Given the description of an element on the screen output the (x, y) to click on. 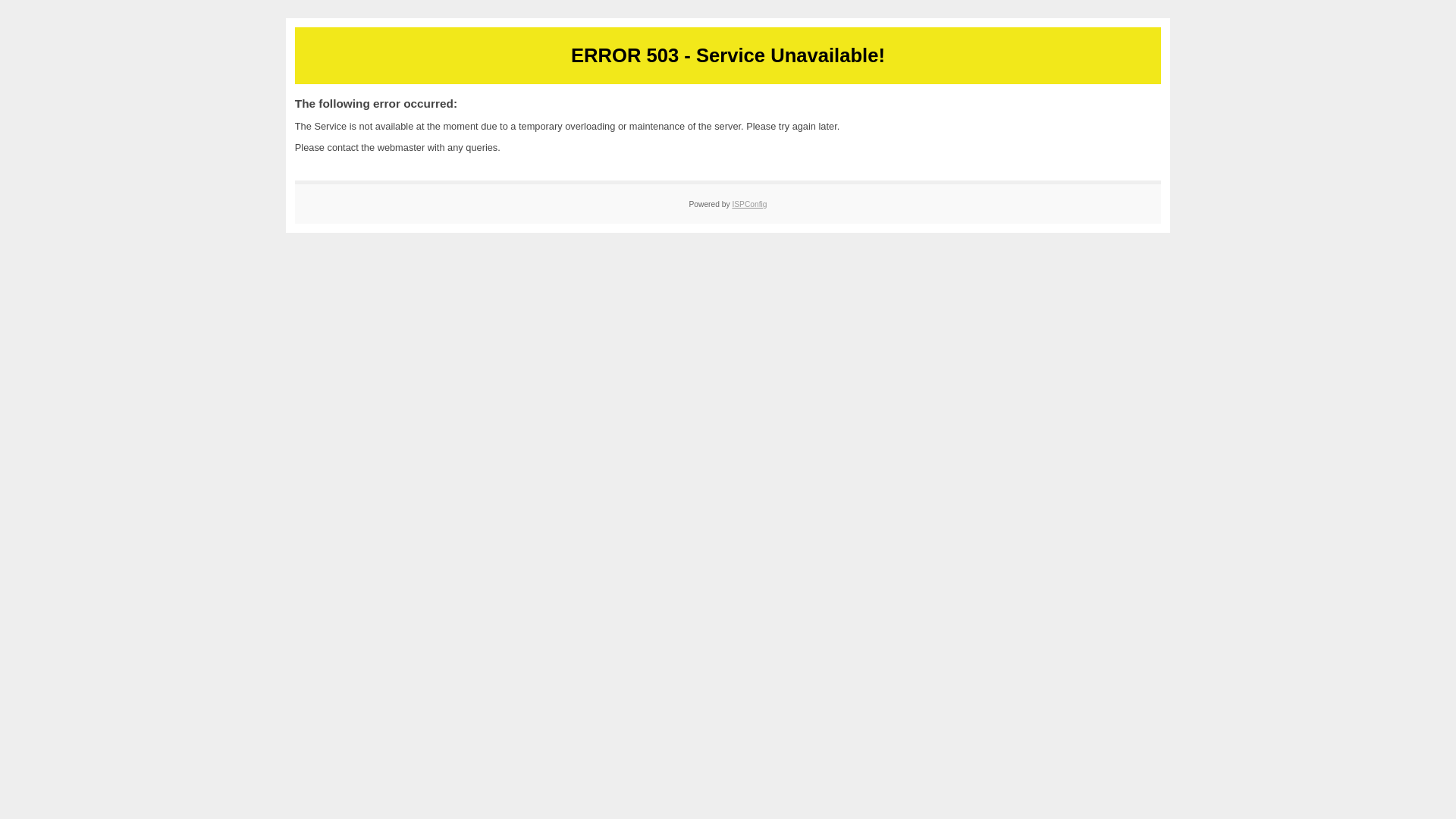
ISPConfig (749, 203)
